Given the description of an element on the screen output the (x, y) to click on. 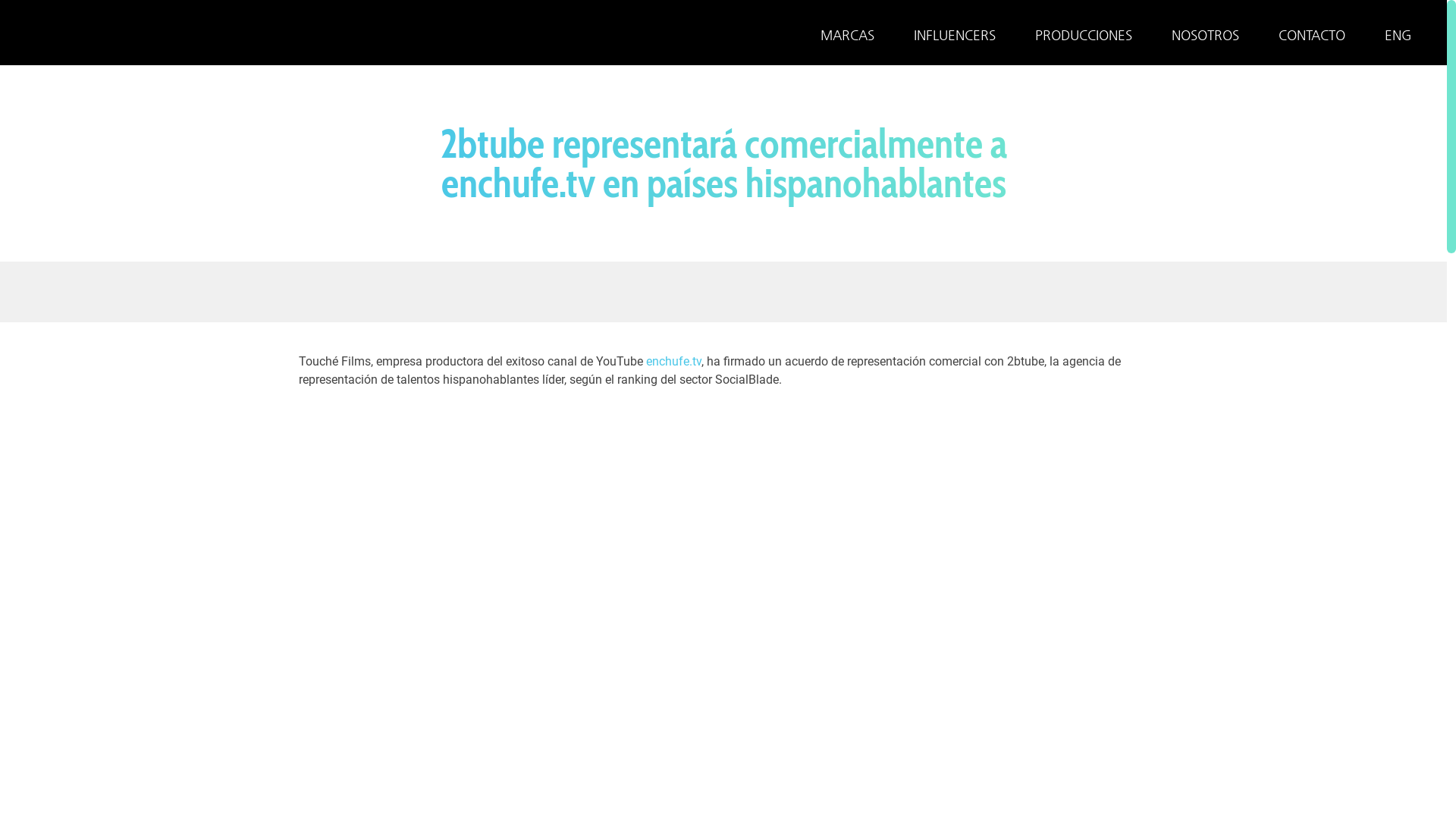
MARCAS Element type: text (847, 34)
INFLUENCERS Element type: text (954, 34)
 enchufe.tv Element type: text (672, 361)
NOSOTROS Element type: text (1204, 34)
CONTACTO Element type: text (1311, 34)
PRODUCCIONES Element type: text (1083, 34)
ENG Element type: text (1398, 34)
